Given the description of an element on the screen output the (x, y) to click on. 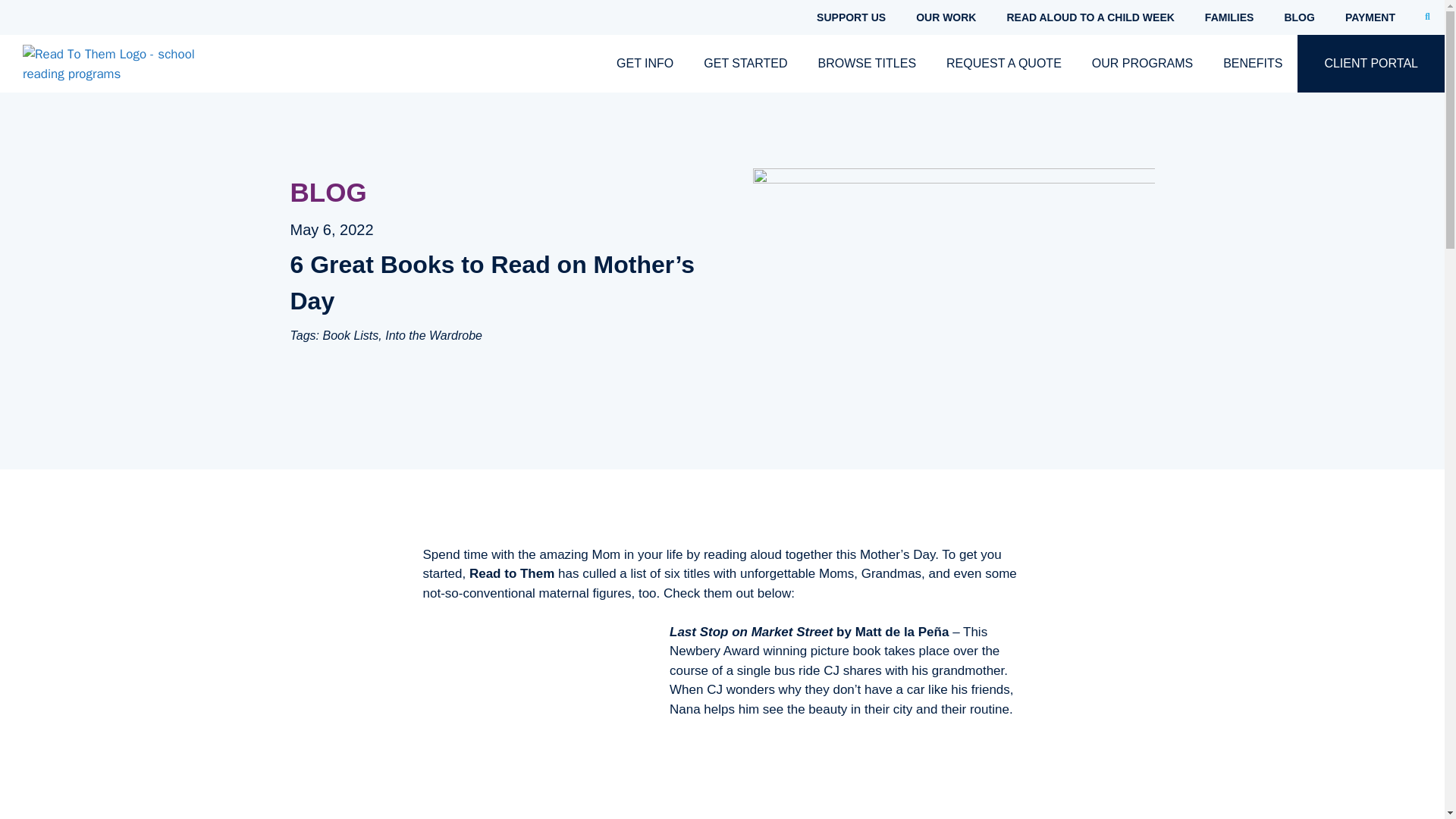
PAYMENT (1370, 17)
BROWSE TITLES (867, 63)
SUPPORT US (851, 17)
OUR PROGRAMS (1142, 63)
FAMILIES (1229, 17)
REQUEST A QUOTE (1004, 63)
READ ALOUD TO A CHILD WEEK (1090, 17)
OUR WORK (946, 17)
BENEFITS (1252, 63)
GET INFO (644, 63)
GET STARTED (745, 63)
BLOG (1298, 17)
